Given the description of an element on the screen output the (x, y) to click on. 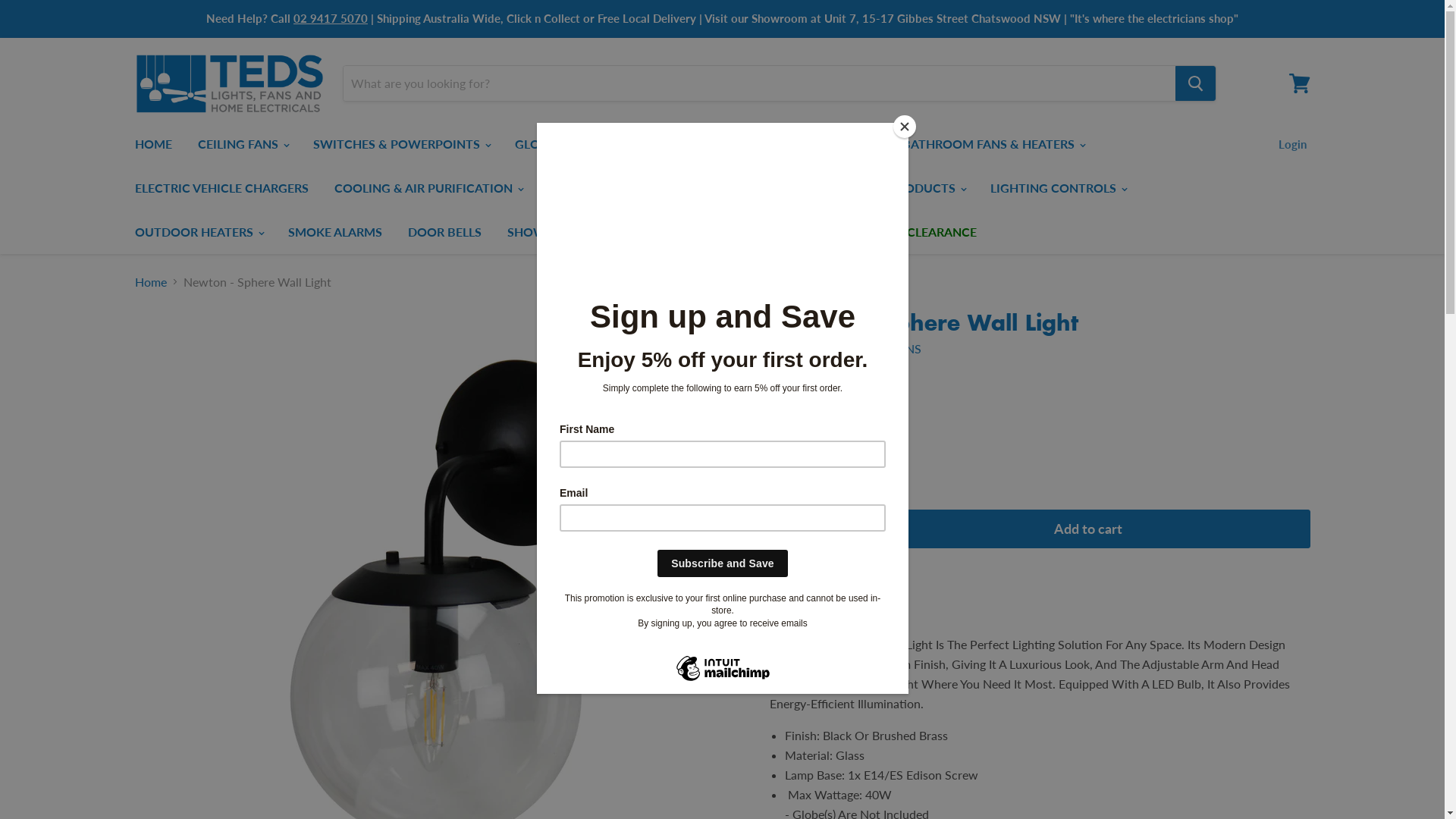
LED DOWNLIGHTS Element type: text (605, 187)
Home Element type: text (150, 281)
HOME Element type: text (152, 144)
LED STRIP LIGHTING Element type: text (754, 187)
View cart Element type: text (1299, 82)
LIGHTS AND FANS ON DISPLAY Element type: text (703, 231)
Pin on Pinterest Element type: text (850, 604)
Share on LinkedIn Element type: text (826, 604)
EXTERIOR LIGHTING Element type: text (812, 144)
Share on Facebook Element type: text (777, 604)
CONTACT Element type: text (851, 231)
02 9417 5070 Element type: text (330, 18)
Tweet on Twitter Element type: text (802, 604)
SMOKE ALARMS Element type: text (334, 231)
COOLING & AIR PURIFICATION Element type: text (428, 187)
CLEARANCE Element type: text (940, 231)
SMART PRODUCTS Element type: text (903, 187)
ELECTRIC VEHICLE CHARGERS Element type: text (220, 187)
GLOBES Element type: text (542, 144)
DOOR BELLS Element type: text (443, 231)
Login Element type: text (1292, 144)
SHOWROOM Element type: text (545, 231)
INTERIOR LIGHTING Element type: text (659, 144)
Add to cart Element type: text (1088, 528)
TEDS LIGHTS AND FANS Element type: text (853, 348)
BATHROOM FANS & HEATERS Element type: text (992, 144)
LIGHTING CONTROLS Element type: text (1056, 187)
CEILING FANS Element type: text (242, 144)
OUTDOOR HEATERS Element type: text (197, 231)
SWITCHES & POWERPOINTS Element type: text (400, 144)
